Given the description of an element on the screen output the (x, y) to click on. 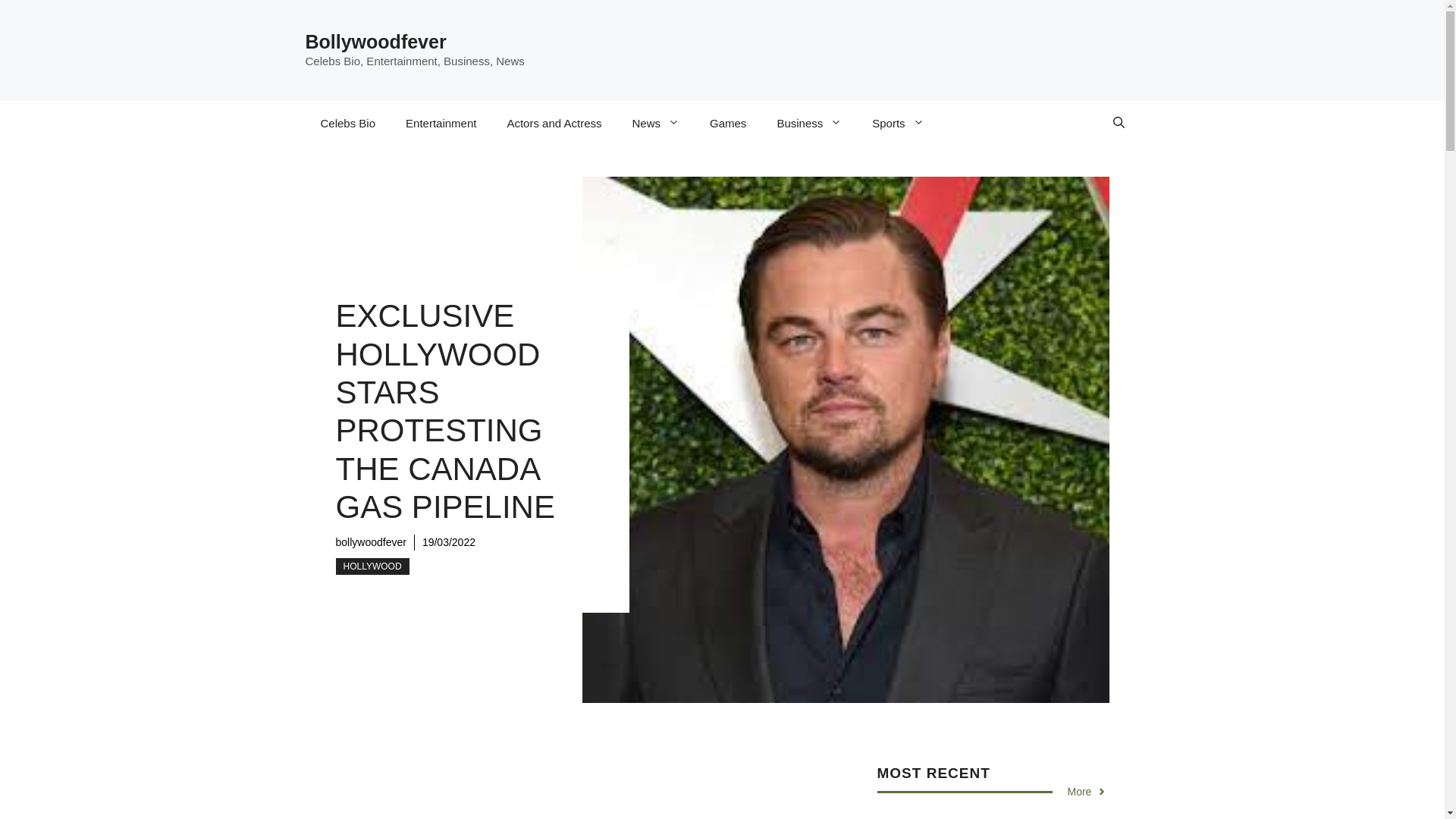
Business (809, 122)
Actors and Actress (553, 122)
Games (727, 122)
bollywoodfever (370, 541)
HOLLYWOOD (371, 565)
Entertainment (441, 122)
News (656, 122)
Sports (898, 122)
Celebs Bio (347, 122)
More (1087, 791)
